Given the description of an element on the screen output the (x, y) to click on. 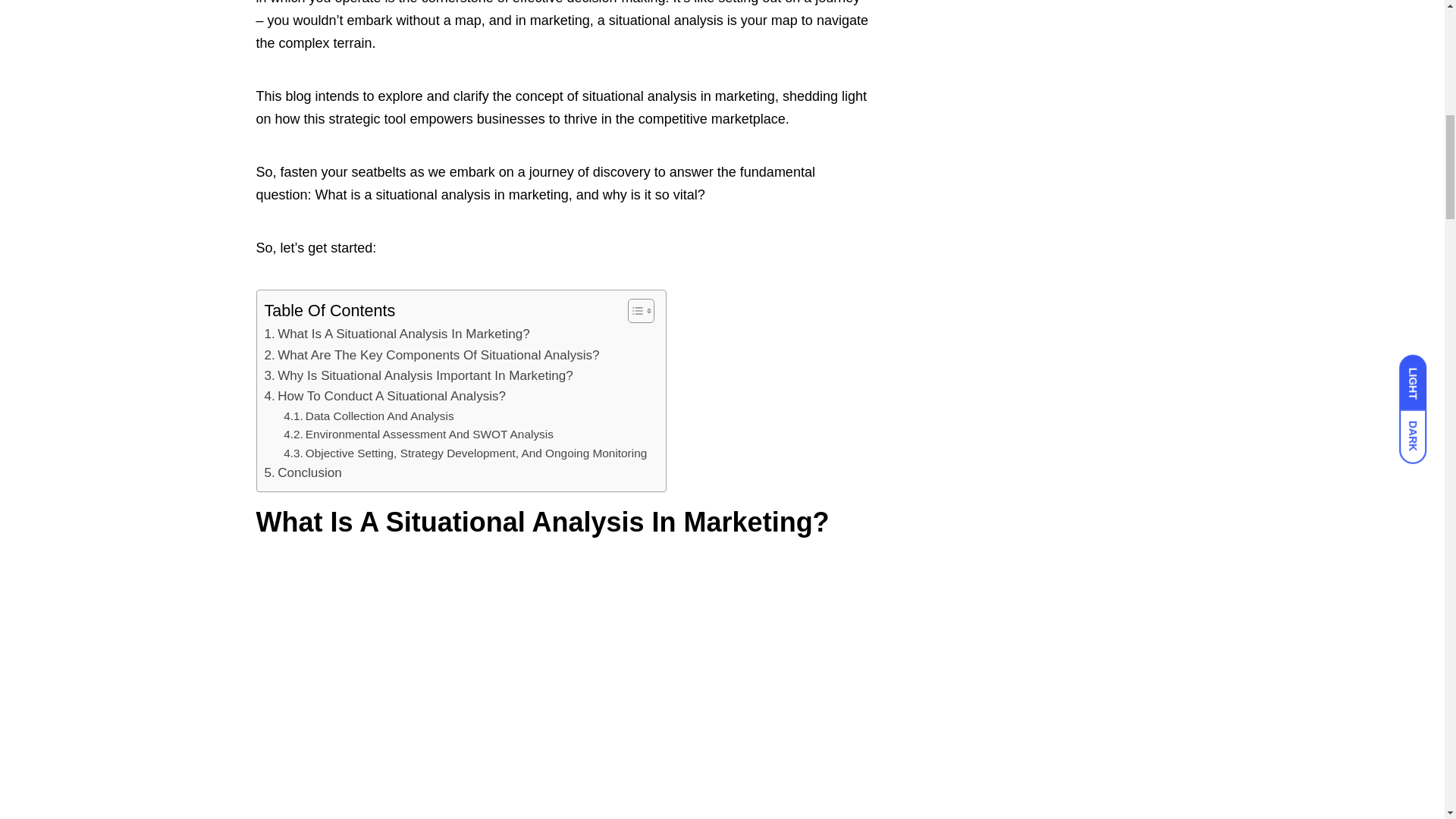
Why Is Situational Analysis Important In Marketing? (417, 375)
Environmental Assessment And SWOT Analysis (418, 434)
What Is A Situational Analysis In Marketing? (396, 333)
What Are The Key Components Of Situational Analysis? (430, 354)
How To Conduct A Situational Analysis? (384, 395)
Data Collection And Analysis (367, 416)
